Given the description of an element on the screen output the (x, y) to click on. 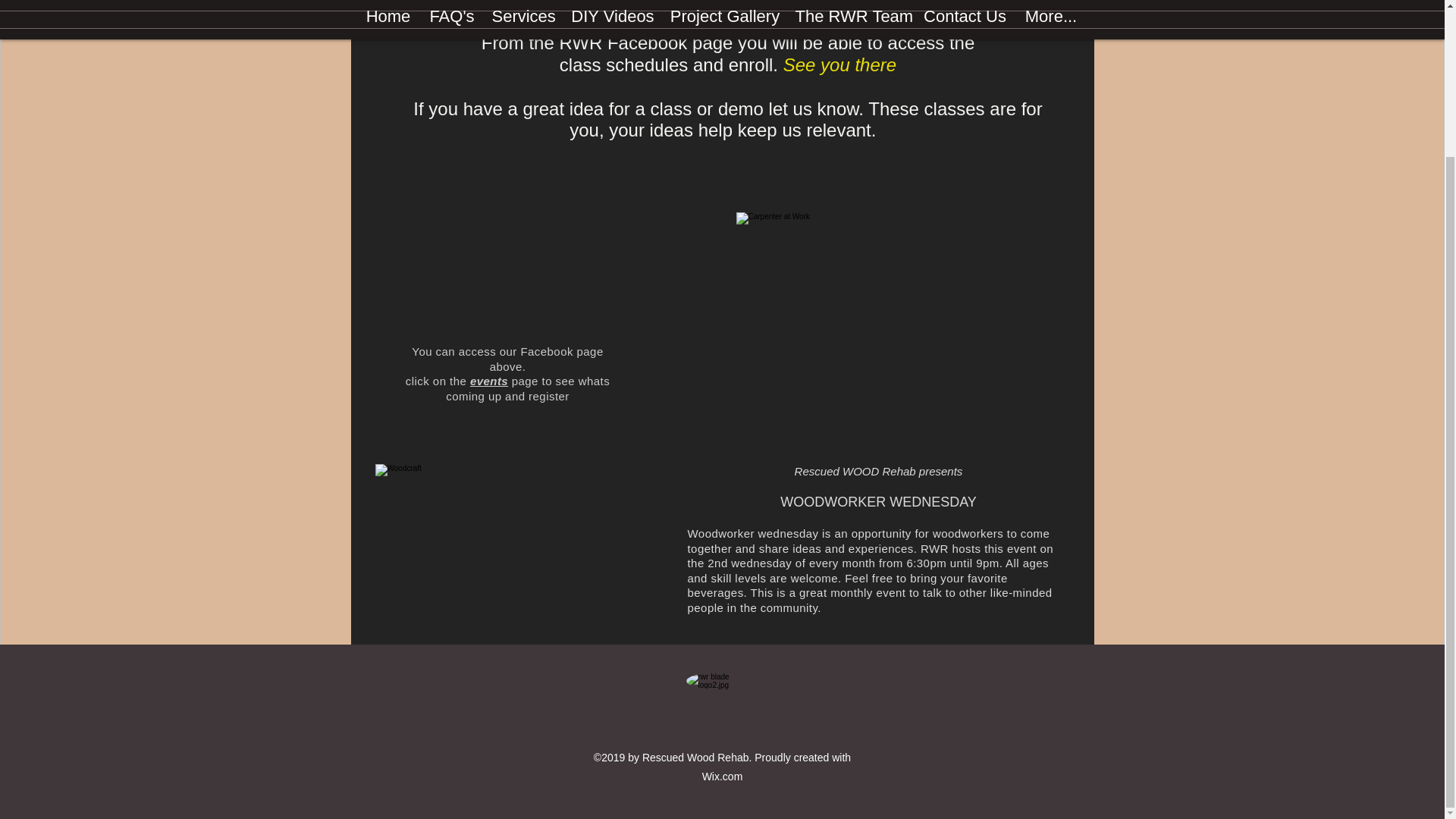
events (489, 380)
Facebook  (615, 4)
